Given the description of an element on the screen output the (x, y) to click on. 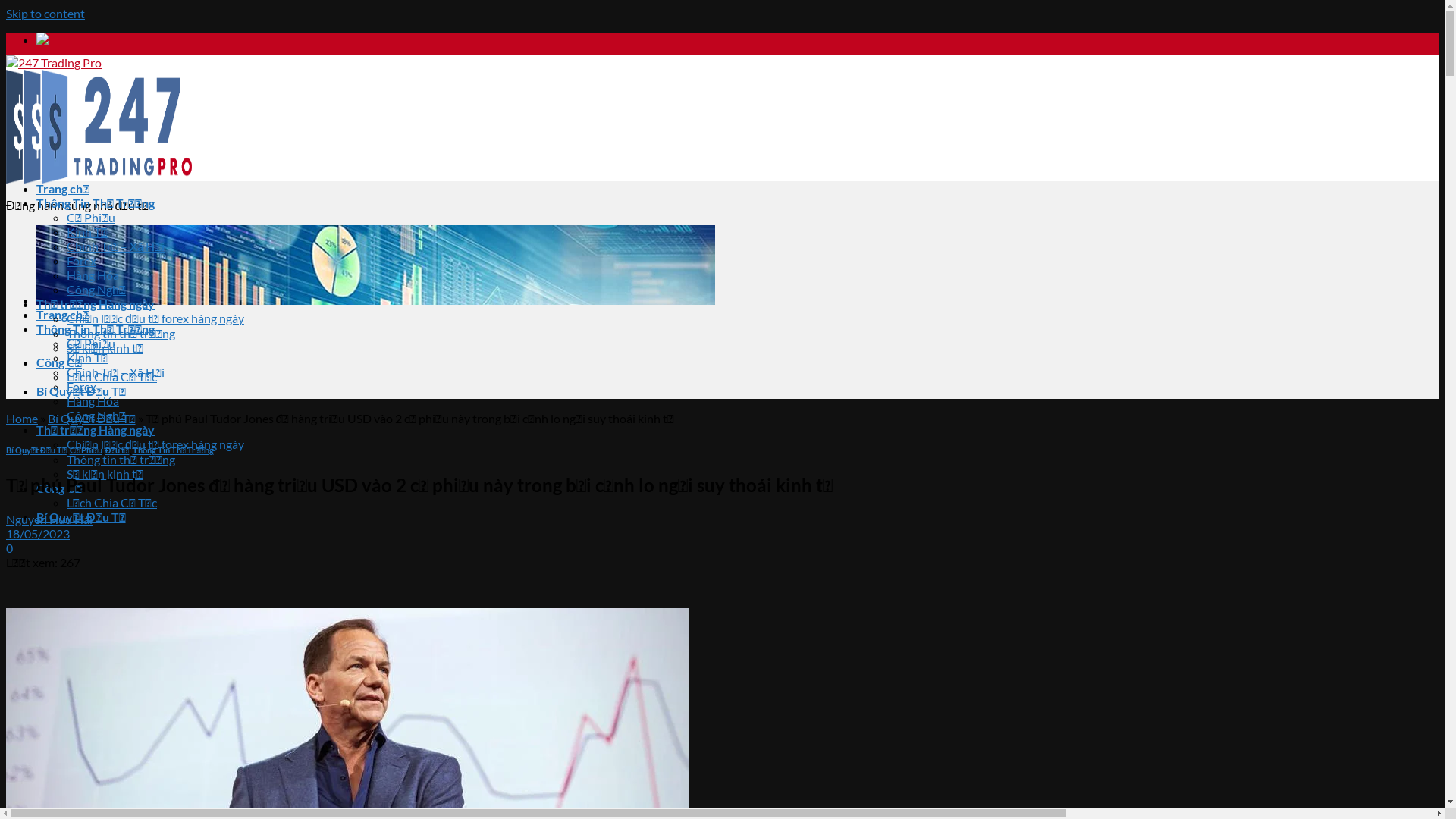
Skip to content Element type: text (45, 13)
Forex Element type: text (81, 386)
Home Element type: text (21, 418)
0 Element type: text (9, 547)
Nguyen Huu Hai Element type: text (49, 518)
Forex Element type: text (81, 260)
18/05/2023 Element type: text (37, 533)
